Given the description of an element on the screen output the (x, y) to click on. 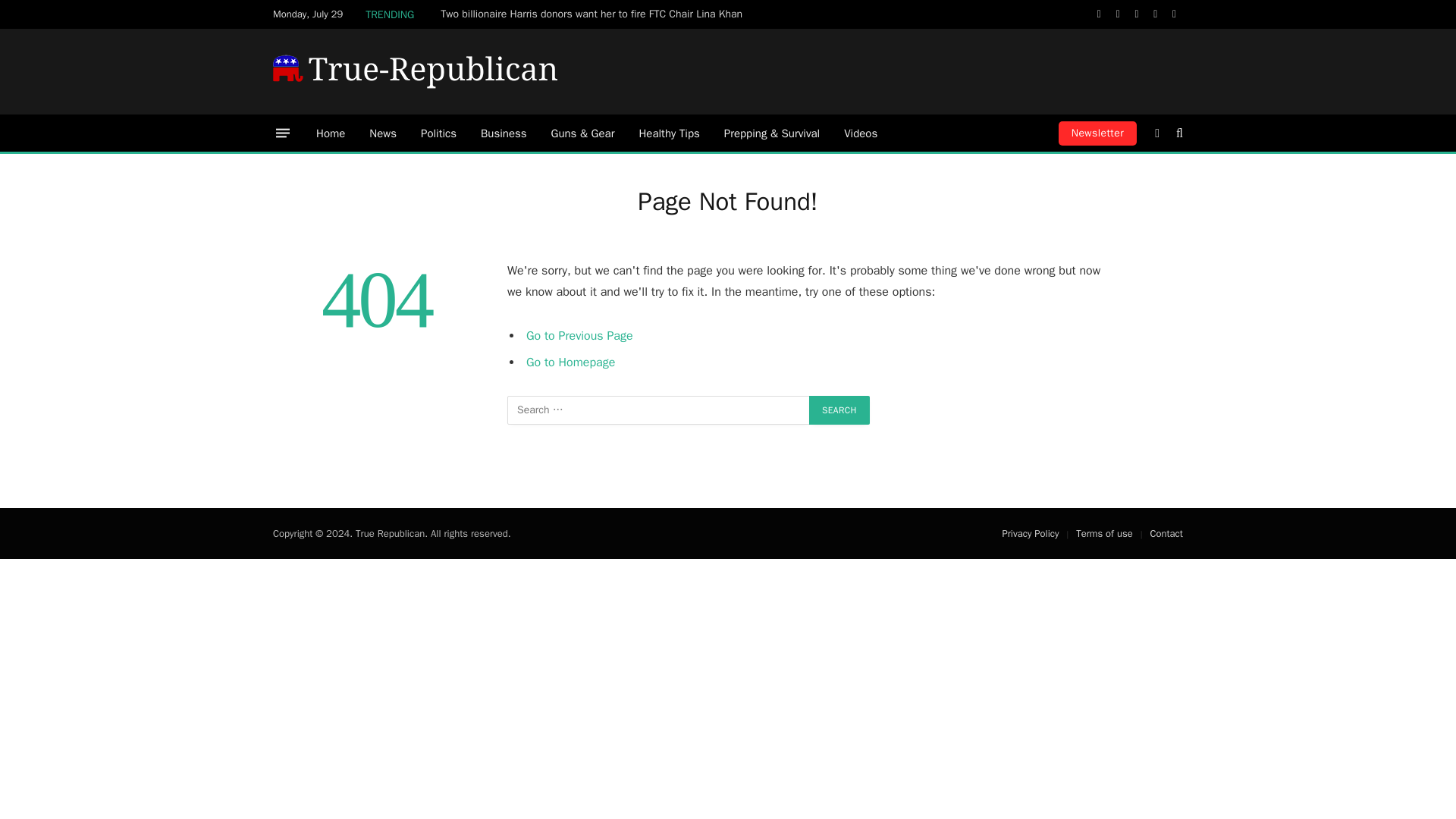
True Republican (415, 71)
Search (839, 410)
News (382, 132)
Newsletter (1097, 133)
Home (330, 132)
Videos (860, 132)
Business (503, 132)
Healthy Tips (668, 132)
Switch to Dark Design - easier on eyes. (1157, 133)
Search (839, 410)
Politics (438, 132)
